Given the description of an element on the screen output the (x, y) to click on. 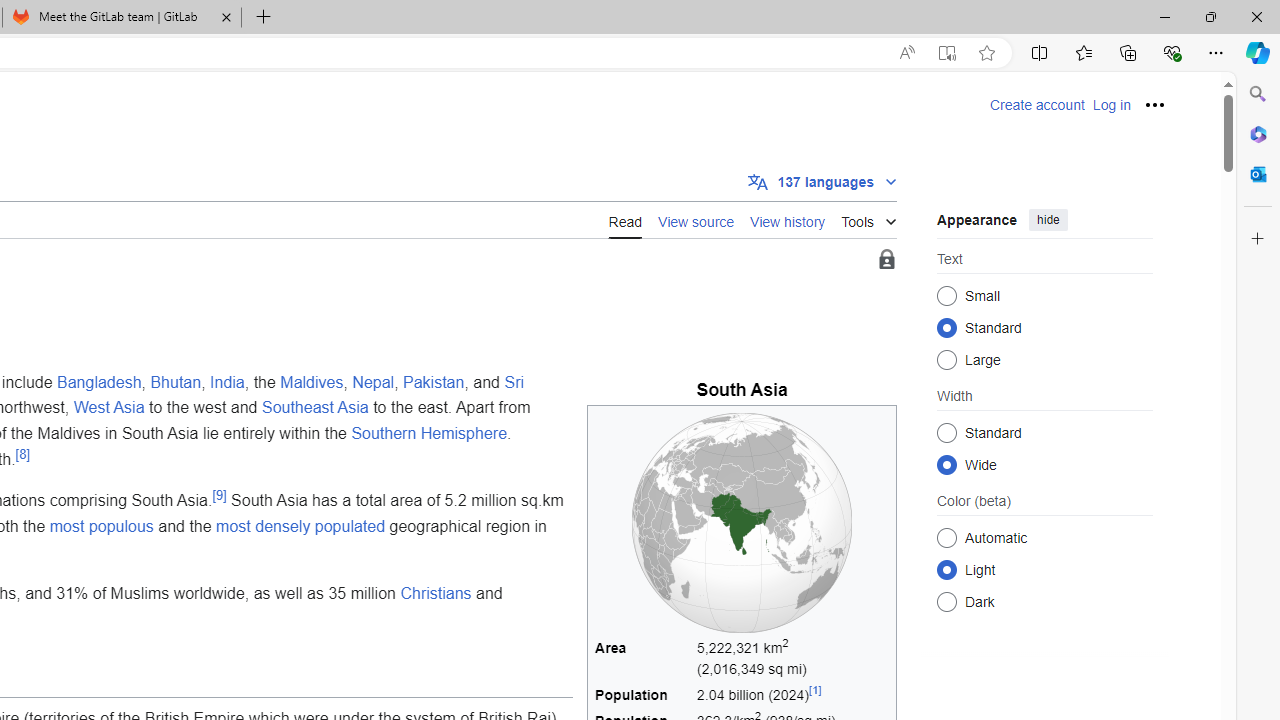
hide (1048, 219)
[9] (219, 494)
Small (946, 295)
View history (787, 219)
Large (946, 359)
Personal tools (1155, 104)
2.04 billion (2024)[1] (793, 695)
India (226, 381)
Dark (946, 601)
Southeast Asia (314, 407)
Bhutan (175, 381)
